Given the description of an element on the screen output the (x, y) to click on. 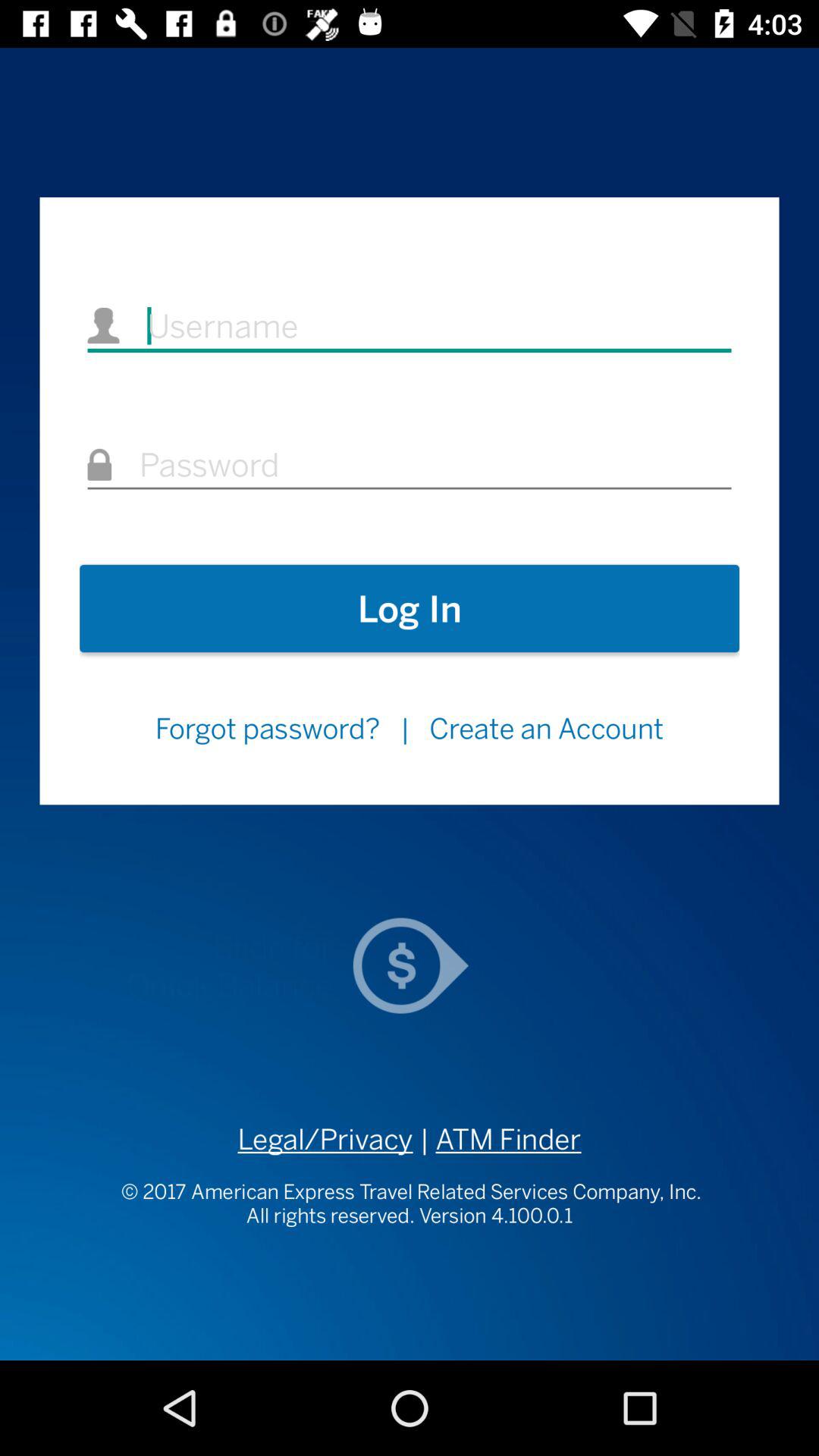
enter password (409, 465)
